Given the description of an element on the screen output the (x, y) to click on. 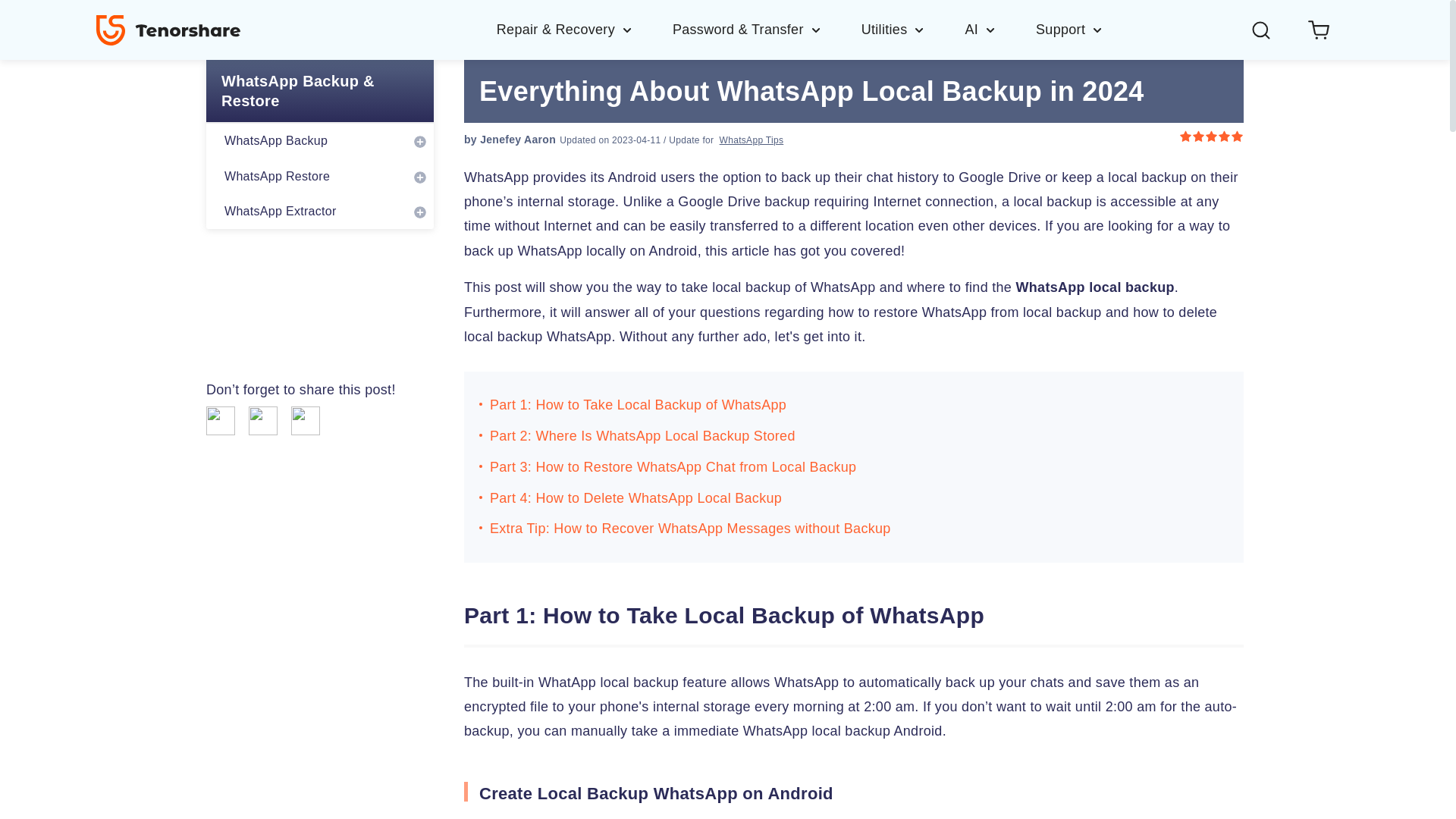
Utilities (913, 29)
Support (1069, 29)
AI (999, 29)
